Given the description of an element on the screen output the (x, y) to click on. 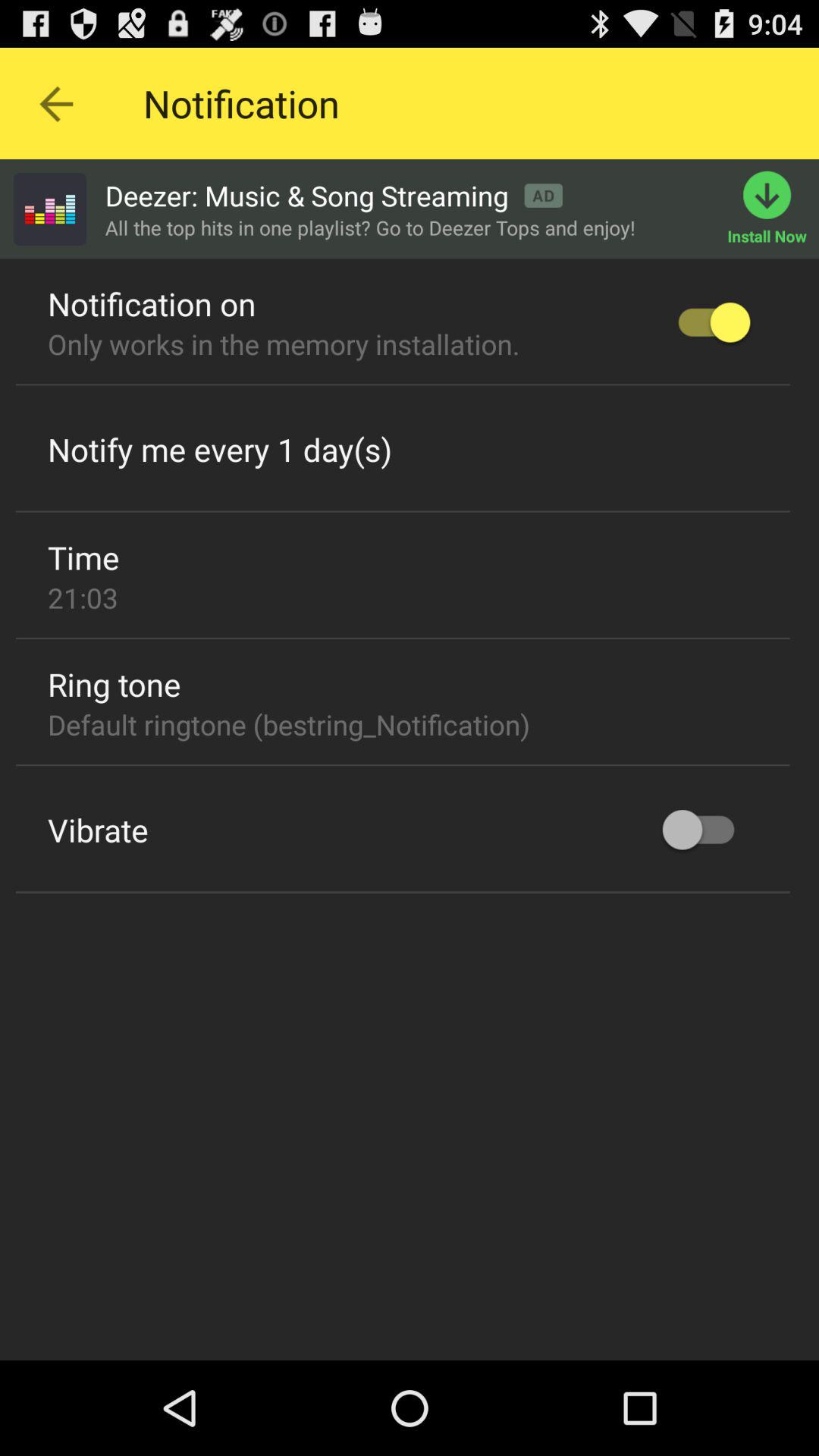
tap icon below the deezer music song item (370, 227)
